Given the description of an element on the screen output the (x, y) to click on. 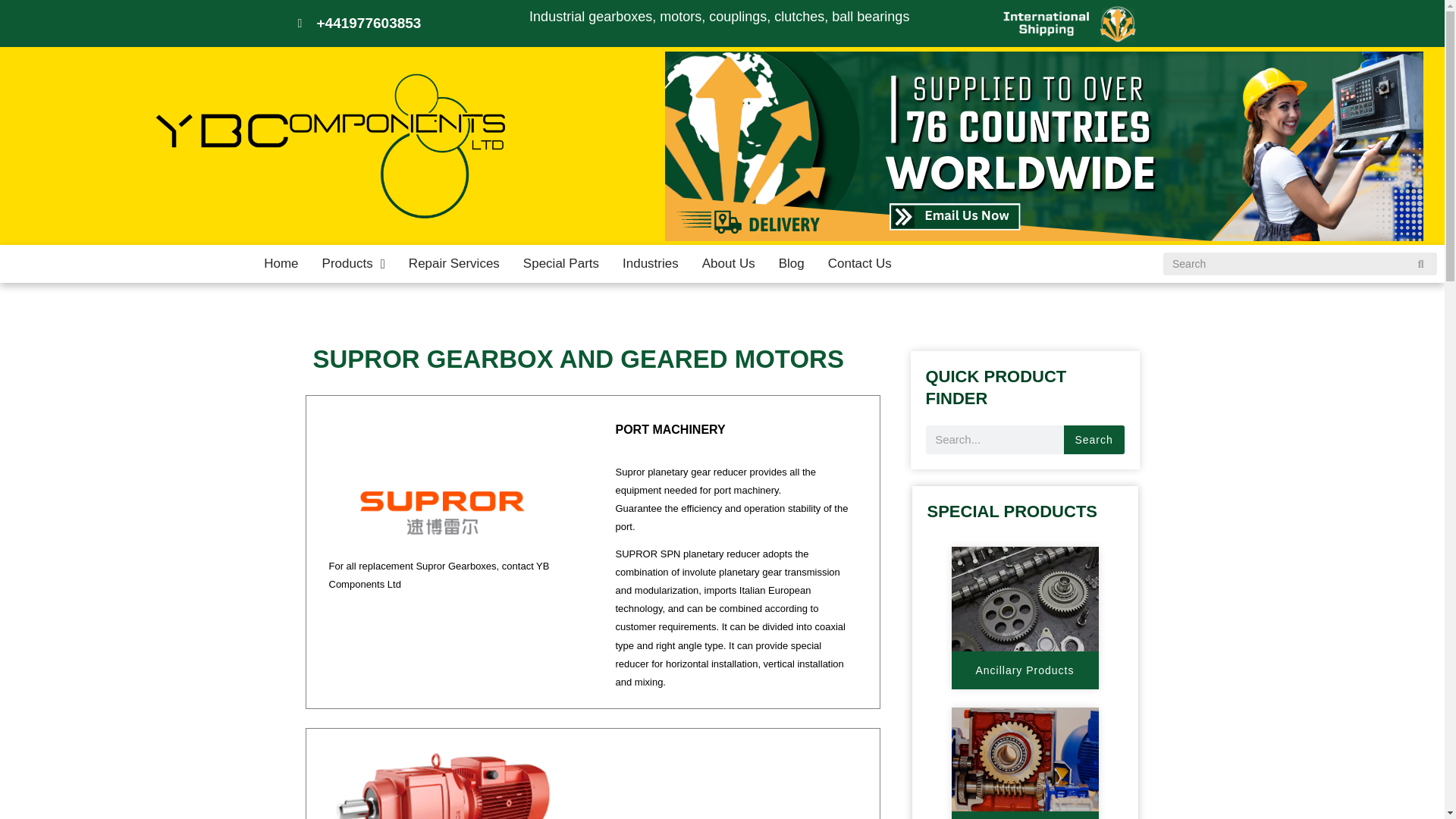
Ancillary Products (1024, 670)
Repair Services (454, 263)
About Us (728, 263)
Gearboxes And Motors (1024, 815)
Home (279, 263)
Products (353, 263)
Search (1094, 439)
Contact Us (859, 263)
Blog (791, 263)
Special Parts (561, 263)
Industries (650, 263)
